Given the description of an element on the screen output the (x, y) to click on. 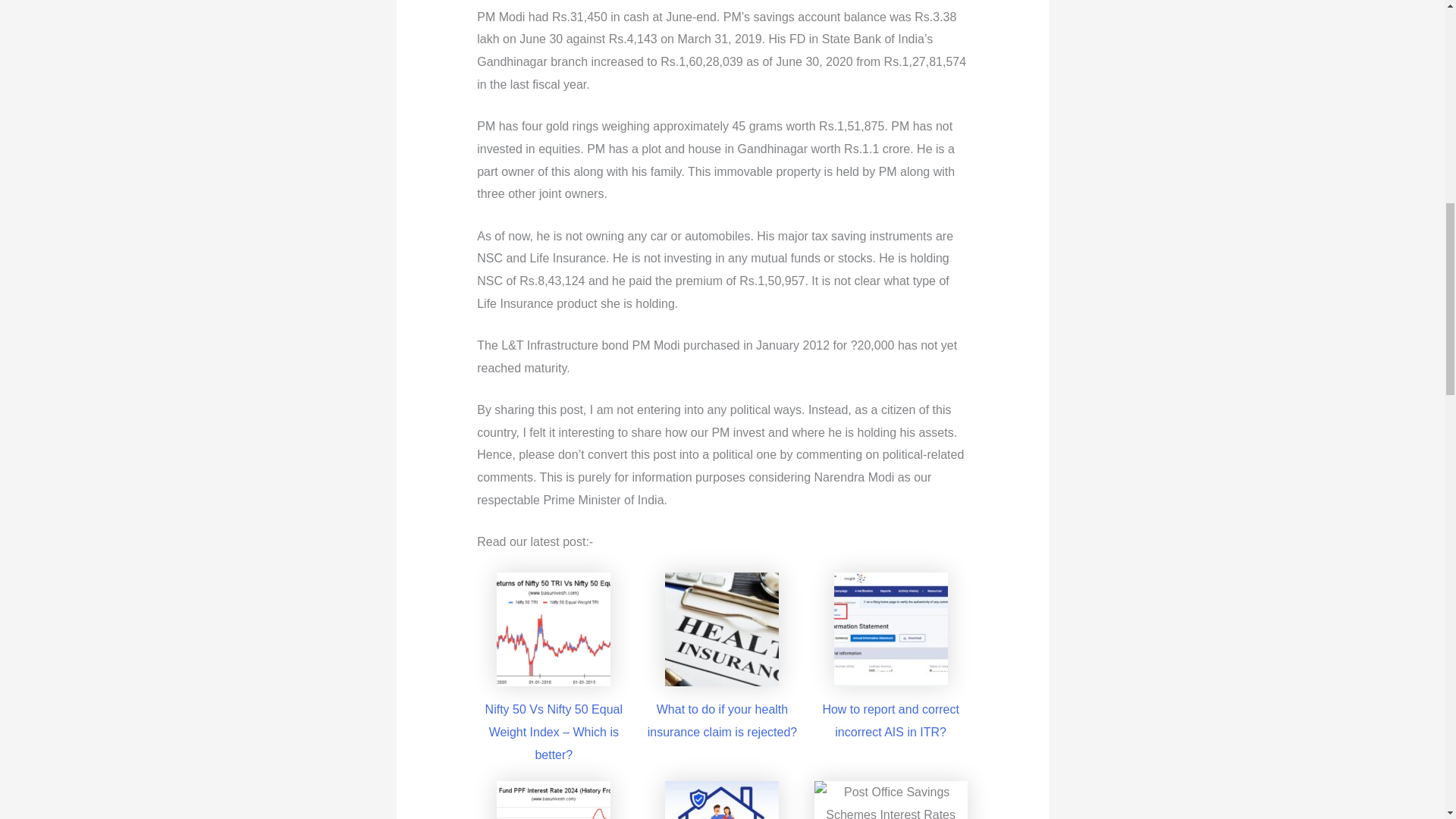
What to do if your health insurance claim is rejected? (721, 720)
How to report and correct incorrect AIS in ITR? (890, 720)
